Given the description of an element on the screen output the (x, y) to click on. 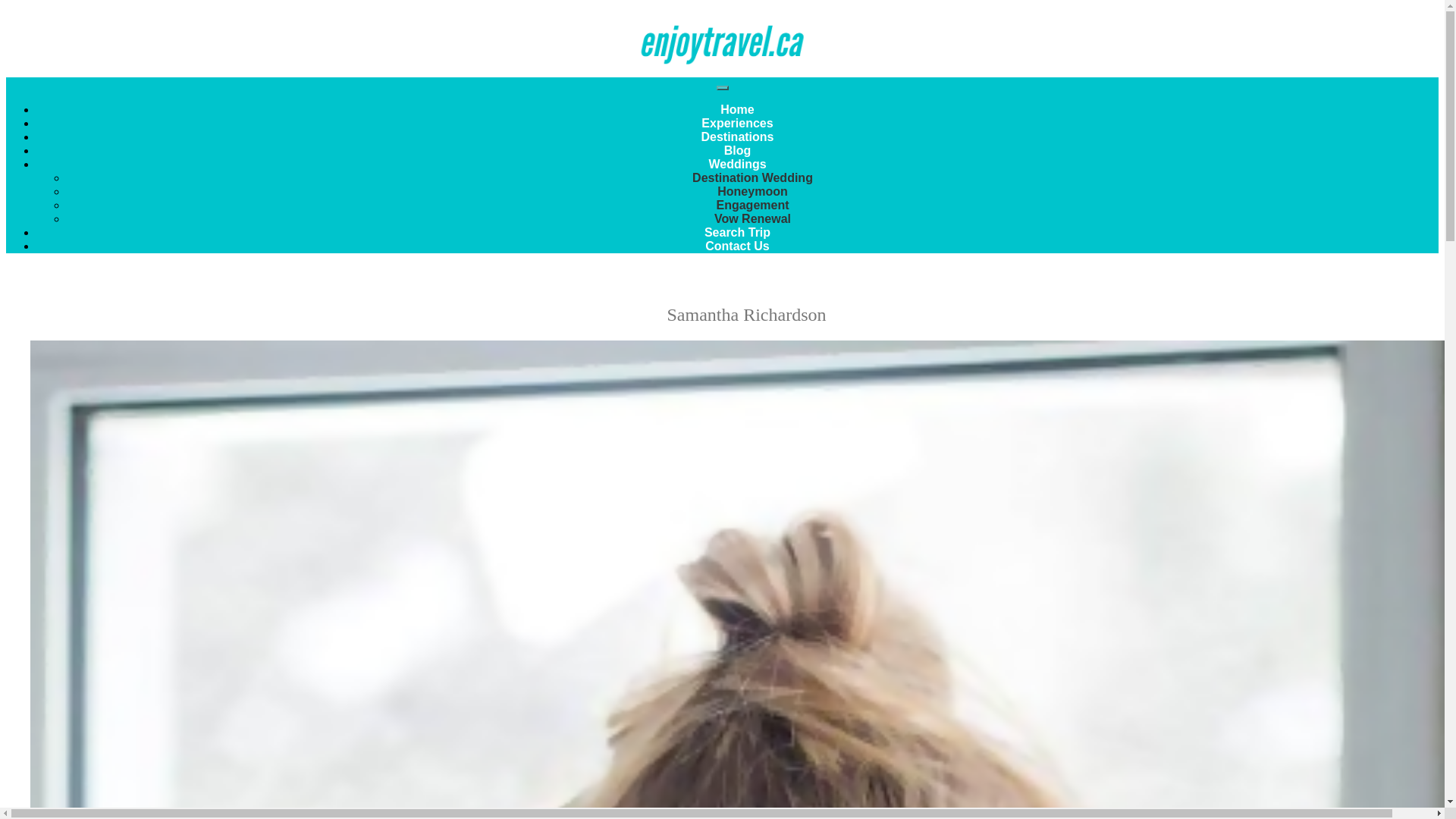
Vow Renewal (752, 218)
Blog (737, 150)
Honeymoon (752, 191)
Toggle navigation (722, 87)
Weddings (736, 164)
Destinations (736, 136)
Destination Wedding (752, 177)
Experiences (737, 123)
Engagement (752, 205)
Search Trip (737, 232)
Contact Us (736, 245)
Home (737, 109)
